Given the description of an element on the screen output the (x, y) to click on. 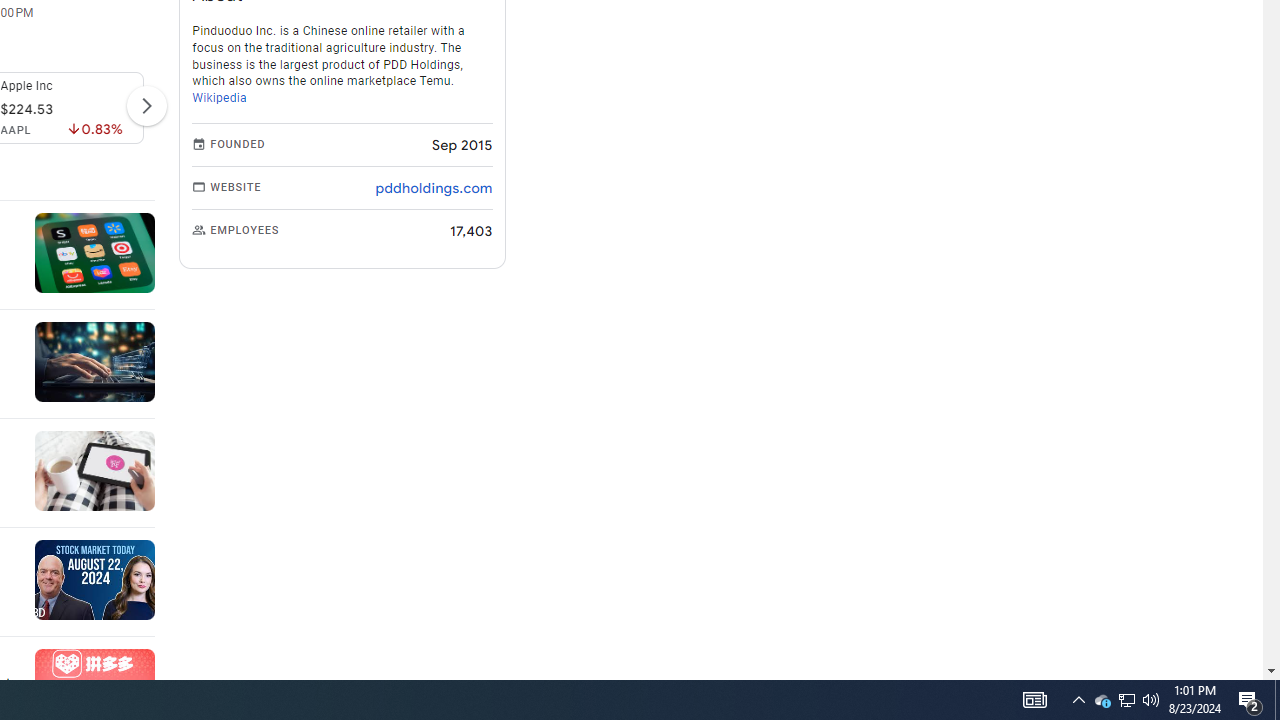
pddholdings.com (433, 187)
Wikipedia (219, 97)
